Given the description of an element on the screen output the (x, y) to click on. 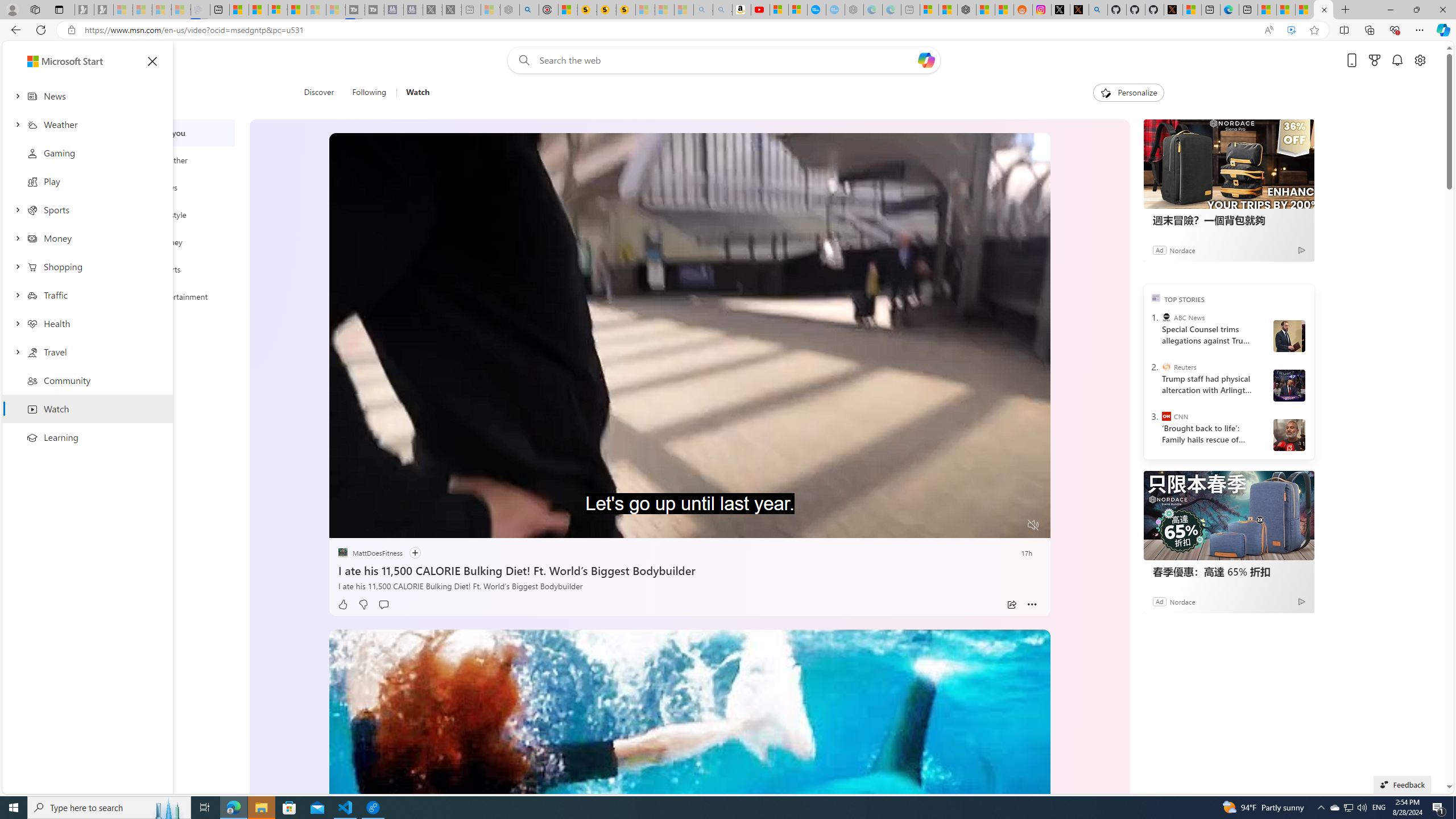
Like (342, 604)
Personalize (1128, 92)
Nordace - Duffels (966, 9)
Nordace - Nordace has arrived Hong Kong - Sleeping (853, 9)
Log in to X / X (1060, 9)
